Given the description of an element on the screen output the (x, y) to click on. 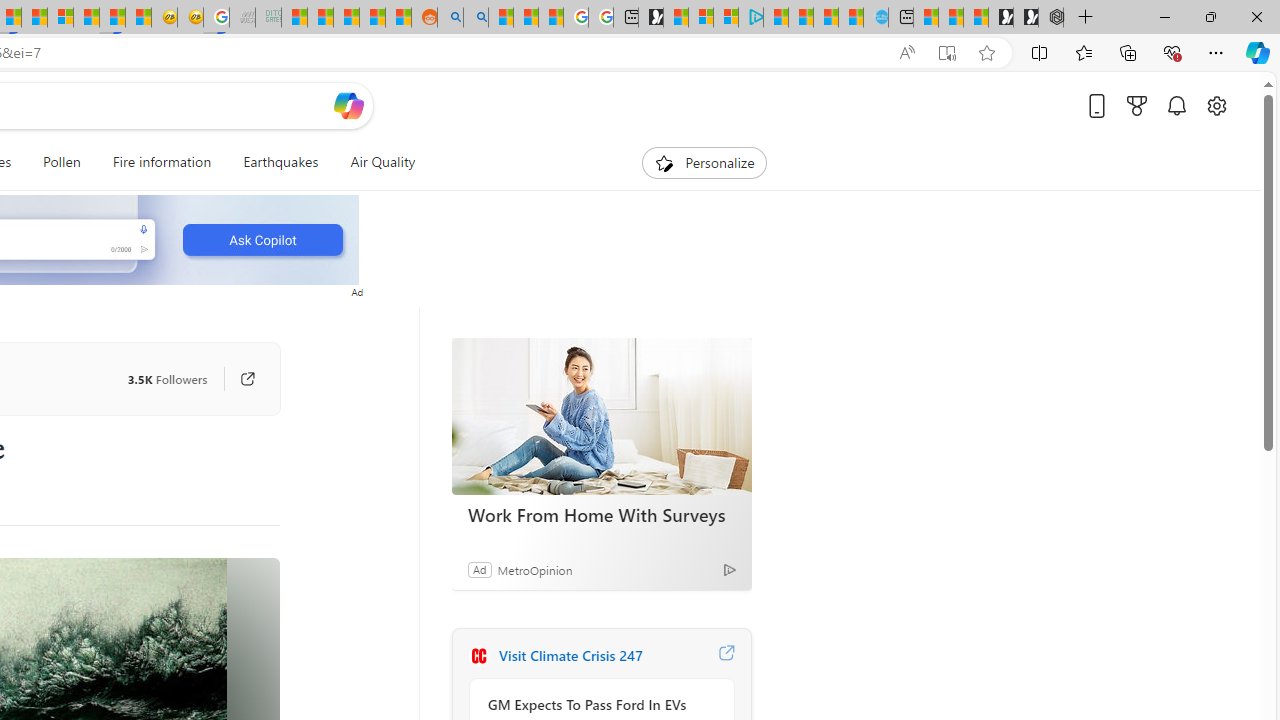
Pollen (61, 162)
